Given the description of an element on the screen output the (x, y) to click on. 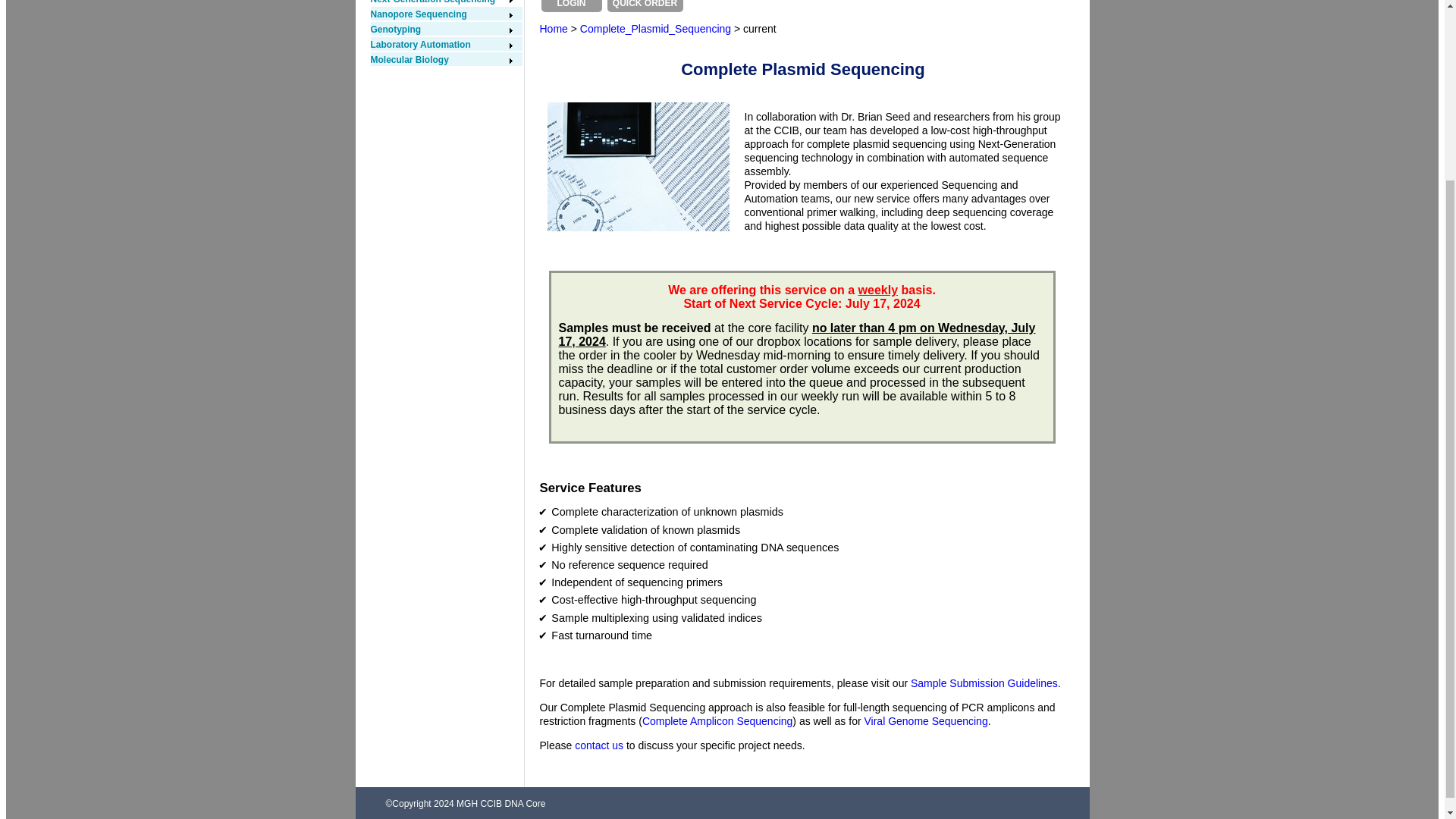
QUICK ORDER (644, 6)
Nanopore Sequencing (441, 14)
Next-Generation Sequencing (441, 2)
Genotyping (441, 29)
LOGIN (571, 6)
